Given the description of an element on the screen output the (x, y) to click on. 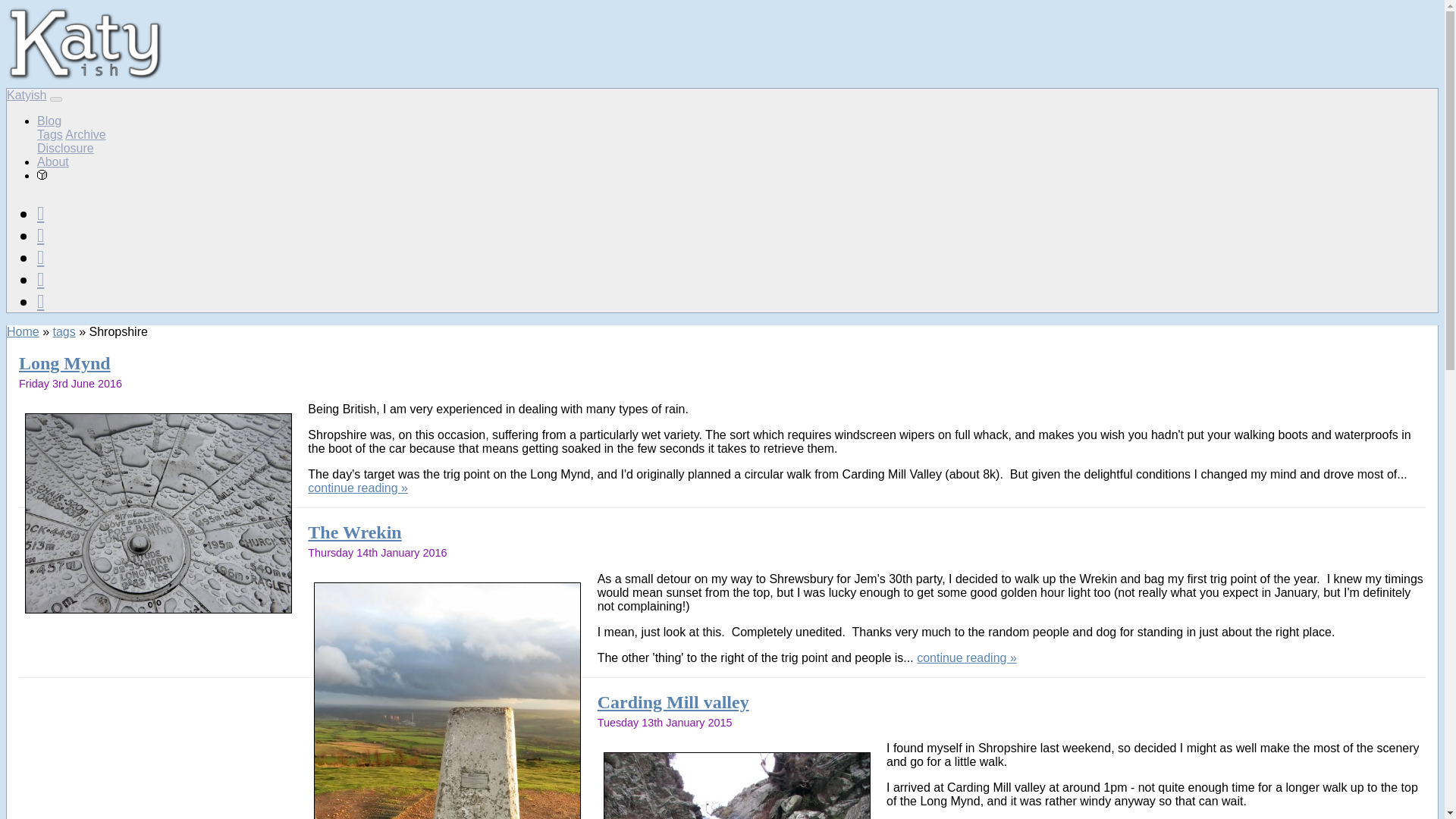
Home (23, 331)
Archive (84, 133)
Carding Mill valley (672, 701)
tags (63, 331)
The Wrekin (354, 532)
Blog (49, 120)
Long Mynd (64, 362)
About (52, 161)
guestblock (41, 174)
Disclosure (65, 147)
